Given the description of an element on the screen output the (x, y) to click on. 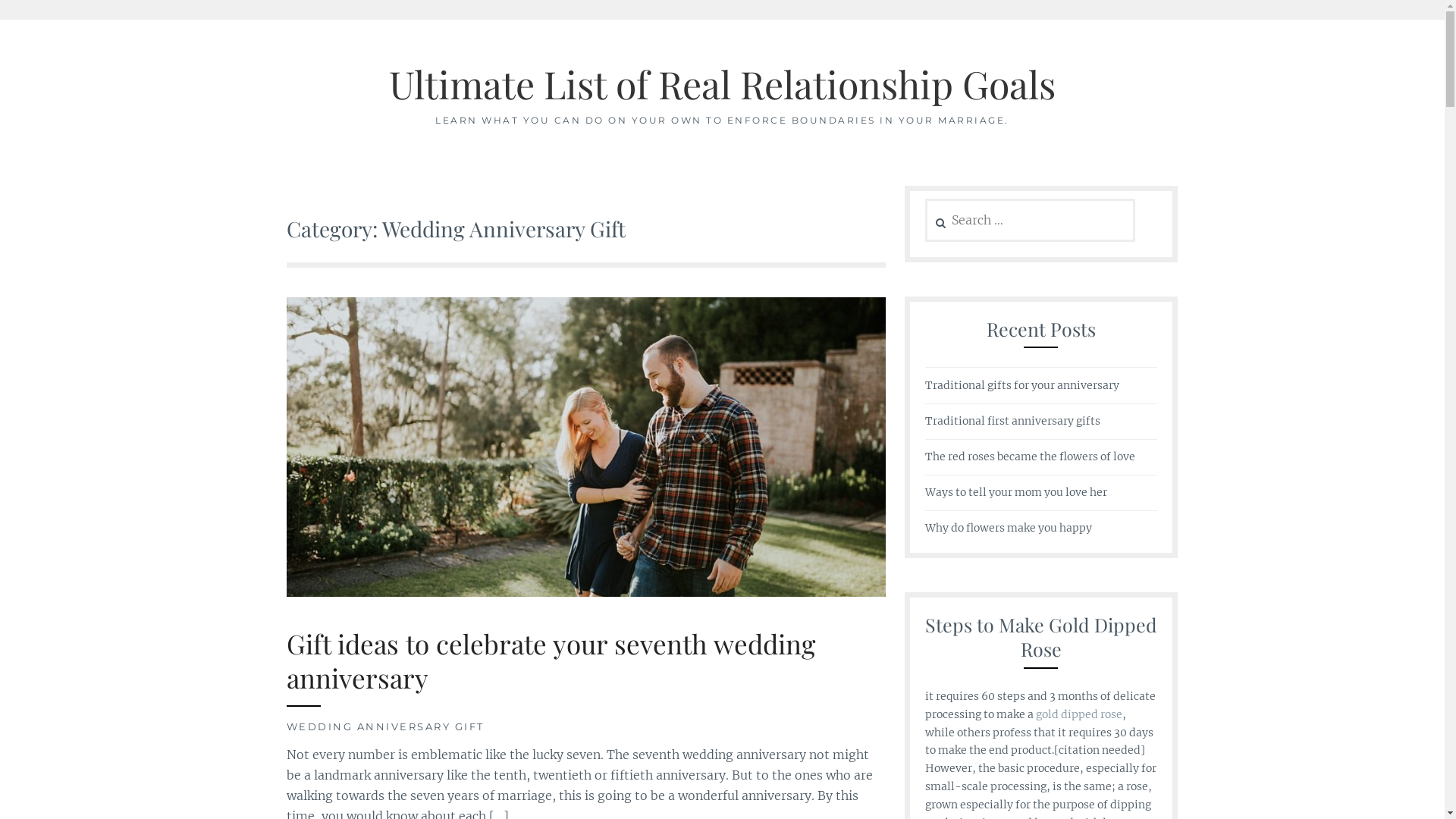
Traditional gifts for your anniversary Element type: text (1022, 385)
WEDDING ANNIVERSARY GIFT Element type: text (385, 726)
Gift ideas to celebrate your seventh wedding anniversary Element type: text (550, 661)
Traditional first anniversary gifts Element type: text (1012, 421)
Skip to content Element type: text (0, 19)
Why do flowers make you happy Element type: text (1008, 528)
Ways to tell your mom you love her Element type: text (1016, 492)
Search Element type: text (42, 19)
Gift ideas to celebrate your seventh wedding anniversary Element type: hover (585, 591)
Ultimate List of Real Relationship Goals Element type: text (722, 83)
gold dipped rose Element type: text (1076, 714)
The red roses became the flowers of love Element type: text (1030, 456)
